Given the description of an element on the screen output the (x, y) to click on. 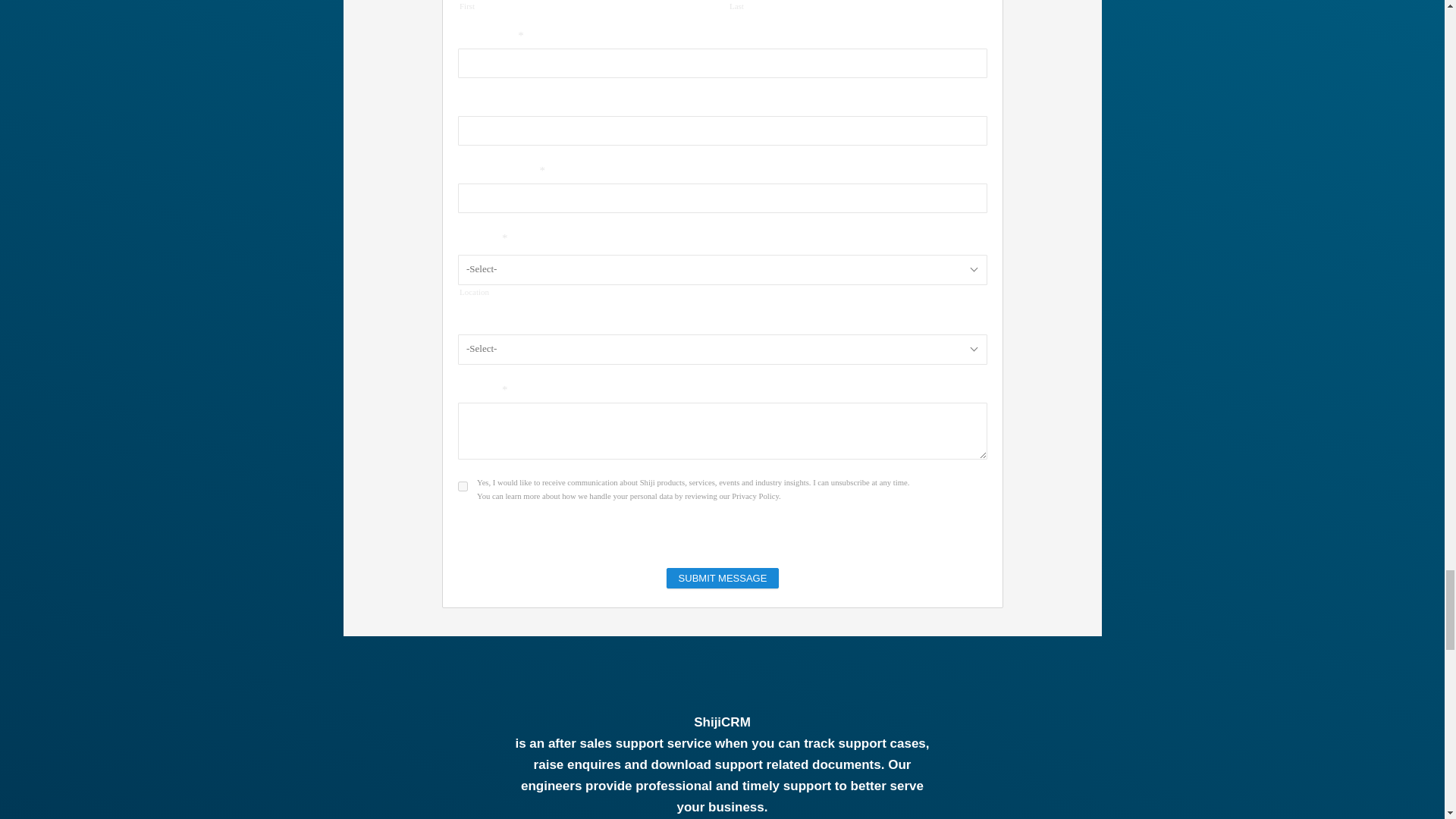
ShijiCRM (722, 722)
